Given the description of an element on the screen output the (x, y) to click on. 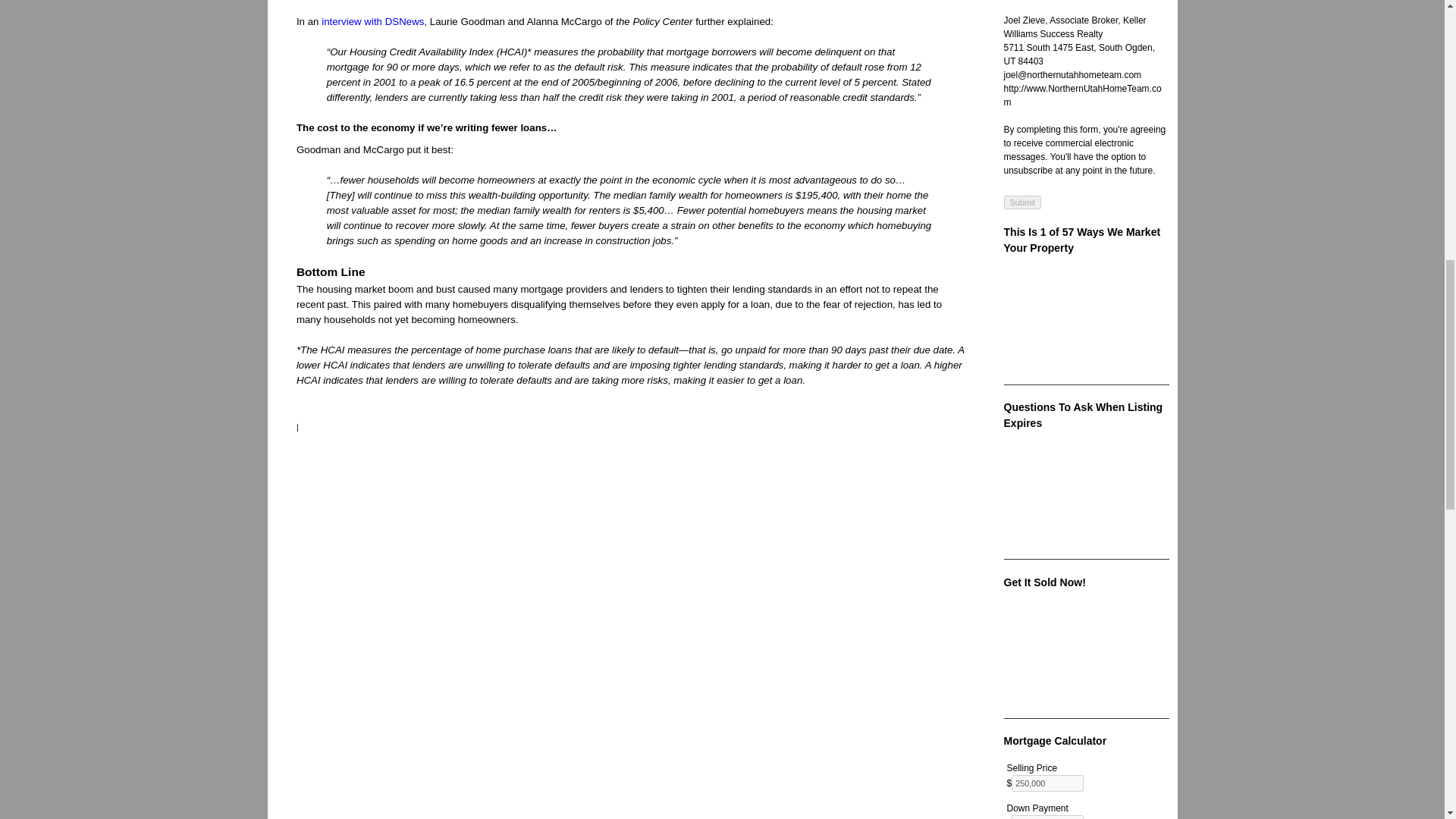
250,000 (1047, 782)
interview with DSNews (372, 21)
50000 (1047, 816)
interview with DSNews (372, 21)
Submit (1023, 202)
